Given the description of an element on the screen output the (x, y) to click on. 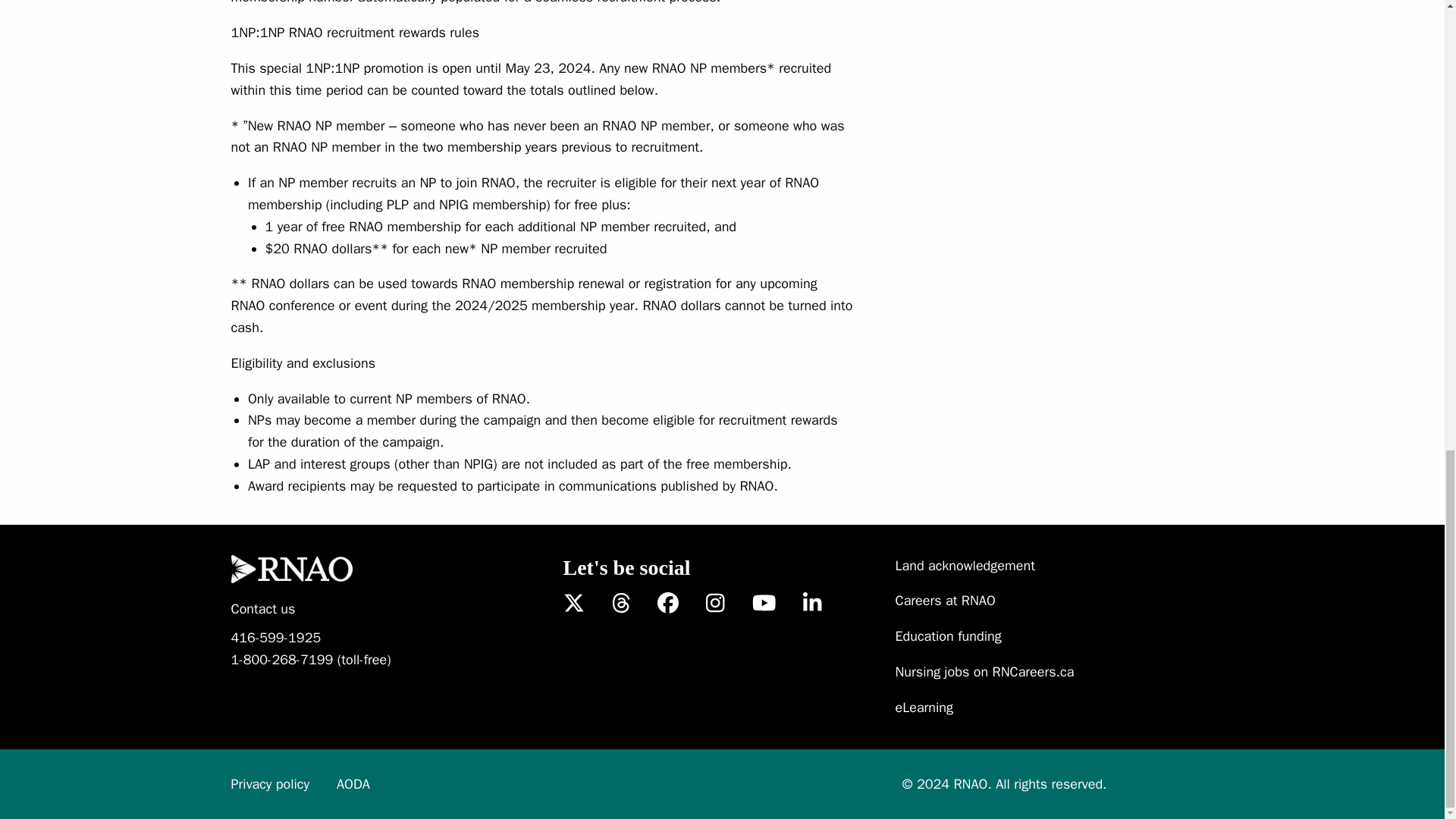
Threads (620, 603)
RNAO LinkedIn (812, 603)
RNAO Facebook page (668, 603)
RNAO YouTube (764, 603)
RNAO Instagram (715, 603)
RNAO Twitter (572, 603)
